Given the description of an element on the screen output the (x, y) to click on. 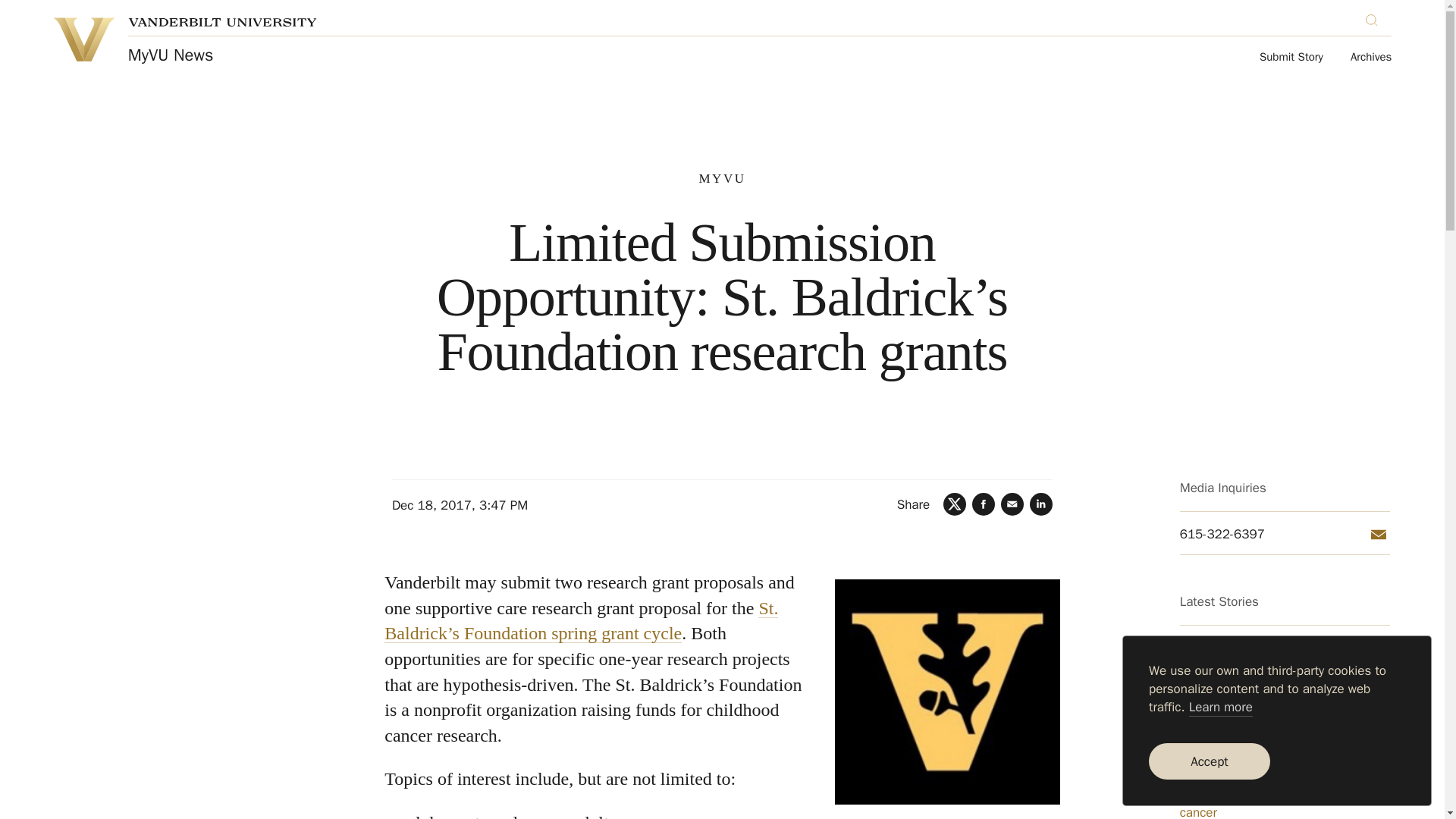
MyVU News (171, 55)
Vanderbilt University (83, 39)
Submit Story (1291, 57)
Learn more (1220, 707)
Accept (1208, 760)
Email (1012, 504)
Archives (1371, 57)
Email (1378, 534)
Vanderbilt University (222, 21)
LinkedIn (1040, 504)
Olympic Aspirations, Lifelong Lessons (1284, 729)
Facebook (983, 504)
Twitter (954, 504)
